Given the description of an element on the screen output the (x, y) to click on. 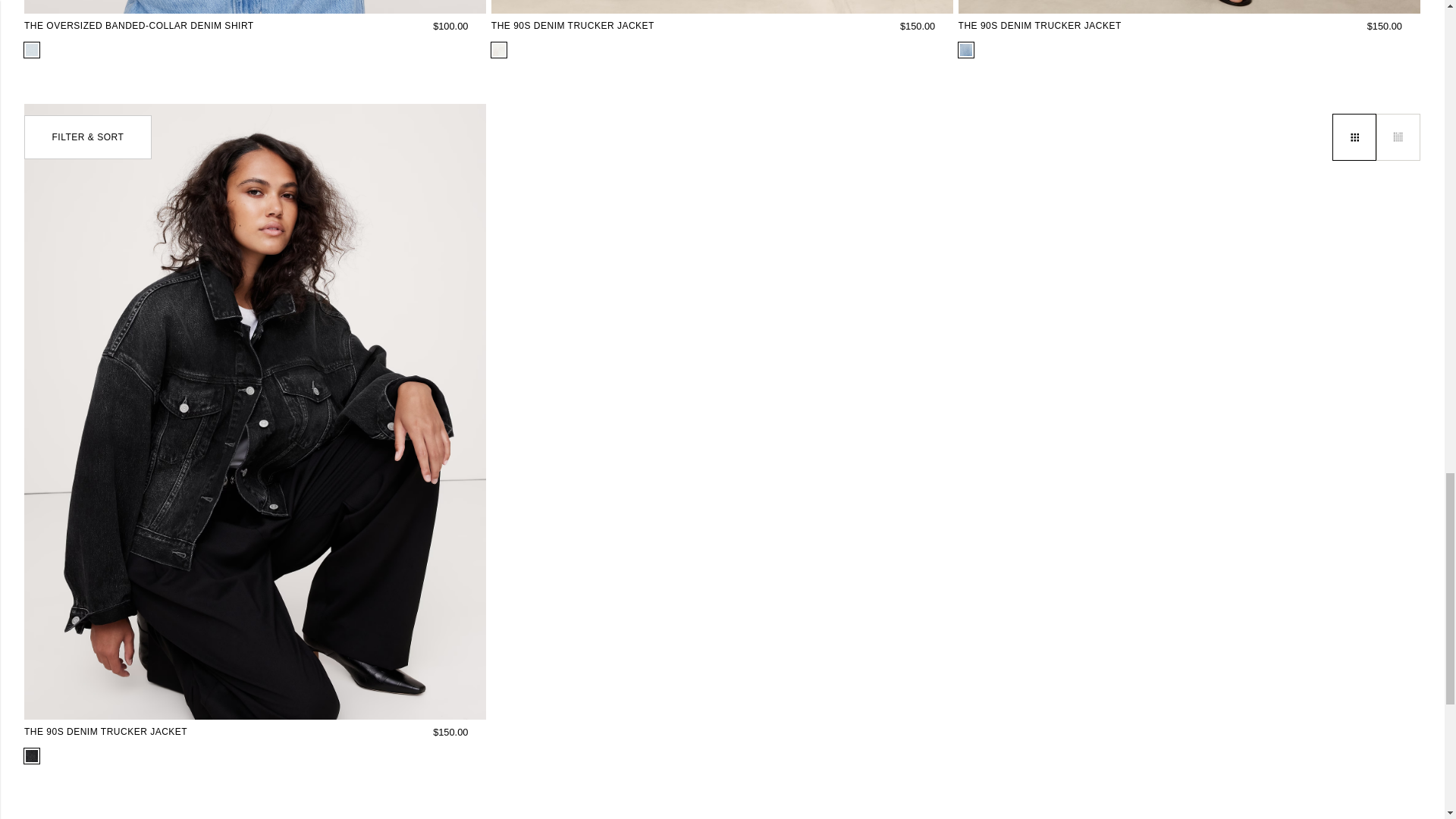
beige (499, 50)
blue (31, 50)
black (31, 756)
blue (965, 50)
